Given the description of an element on the screen output the (x, y) to click on. 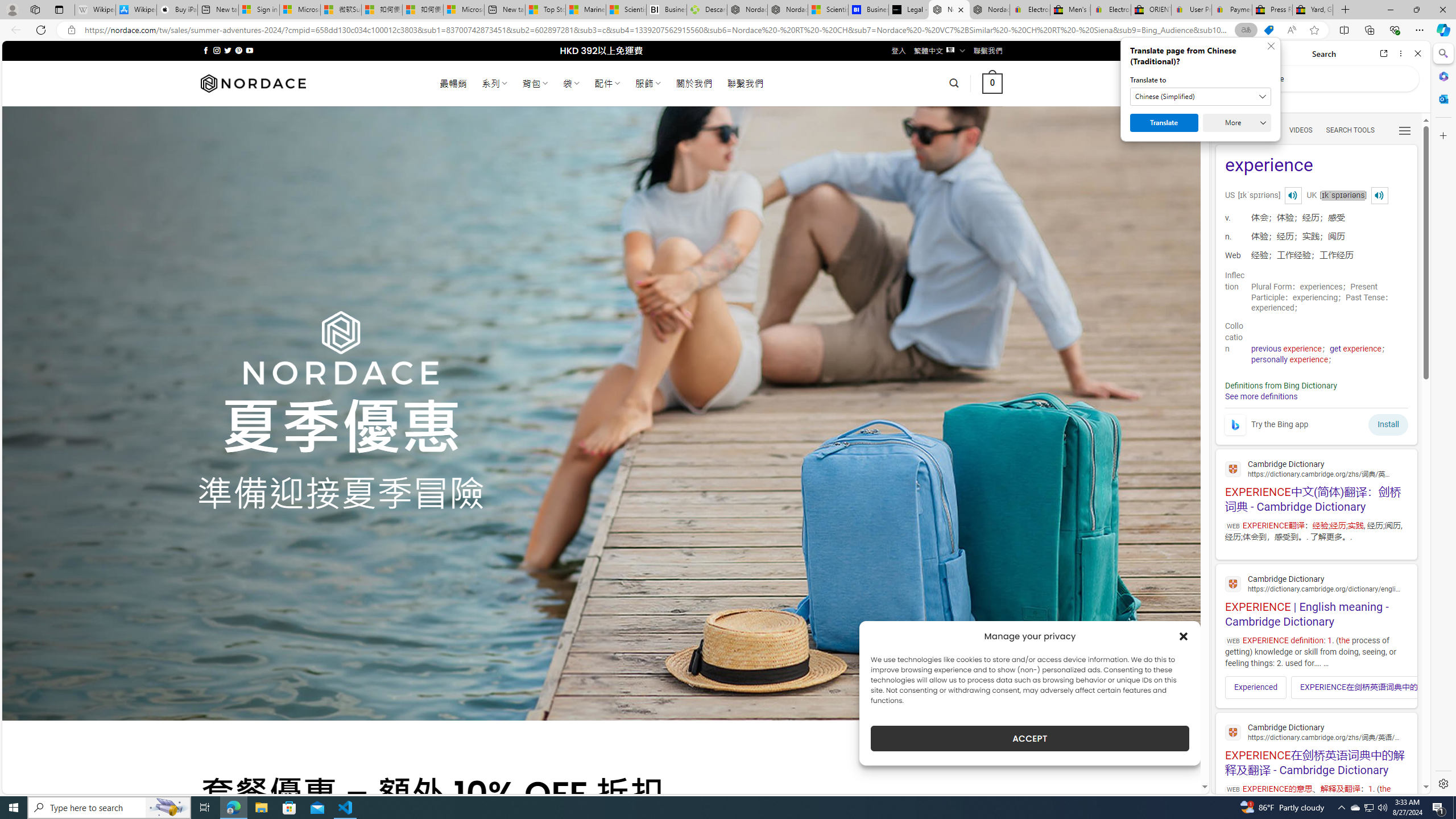
Search Filter, WEB (1230, 129)
Top Stories - MSN (544, 9)
To get missing image descriptions, open the context menu. (1234, 424)
